Given the description of an element on the screen output the (x, y) to click on. 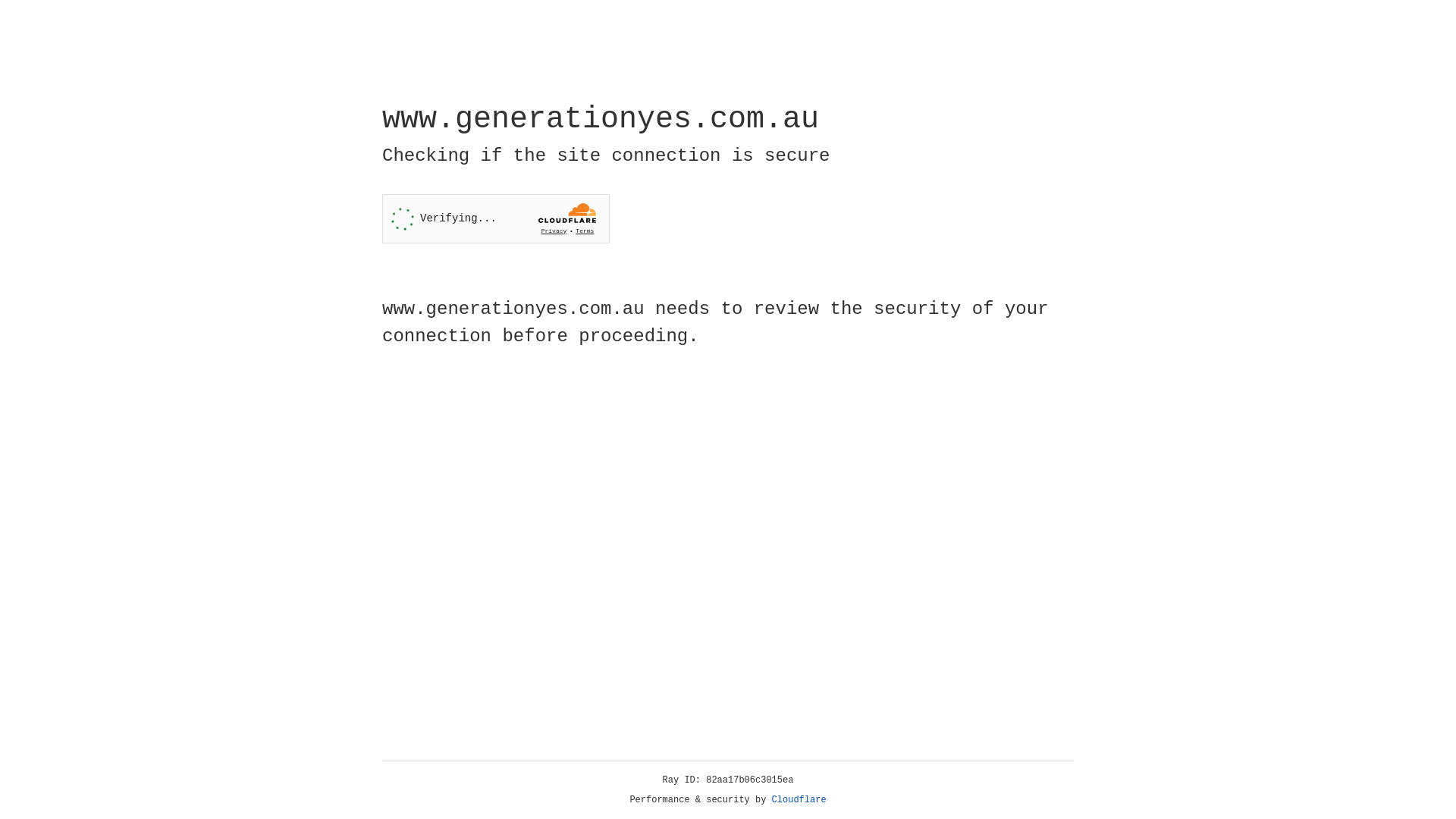
Widget containing a Cloudflare security challenge Element type: hover (495, 218)
Cloudflare Element type: text (798, 799)
